Given the description of an element on the screen output the (x, y) to click on. 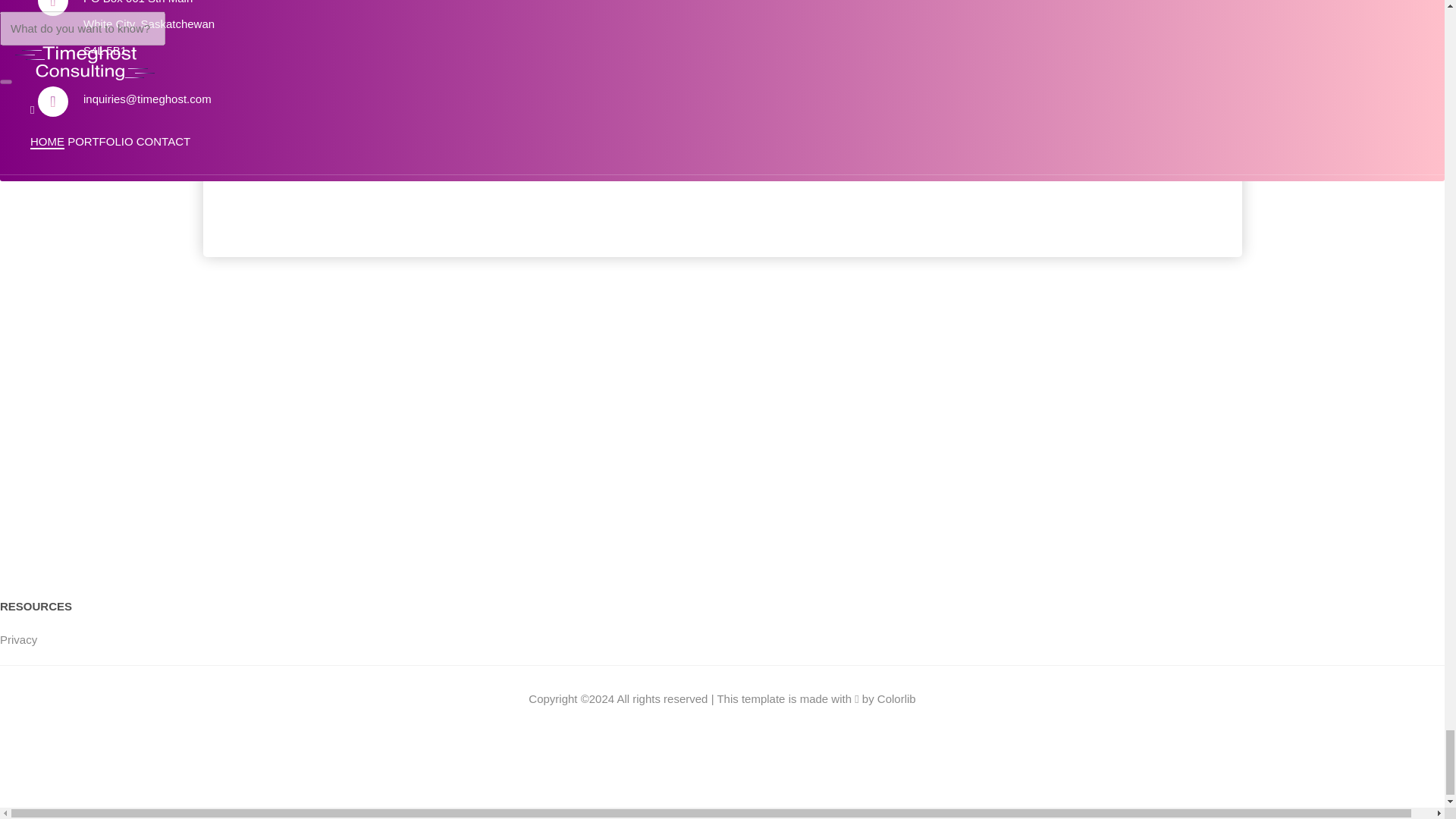
Colorlib (896, 698)
Privacy (18, 639)
